Given the description of an element on the screen output the (x, y) to click on. 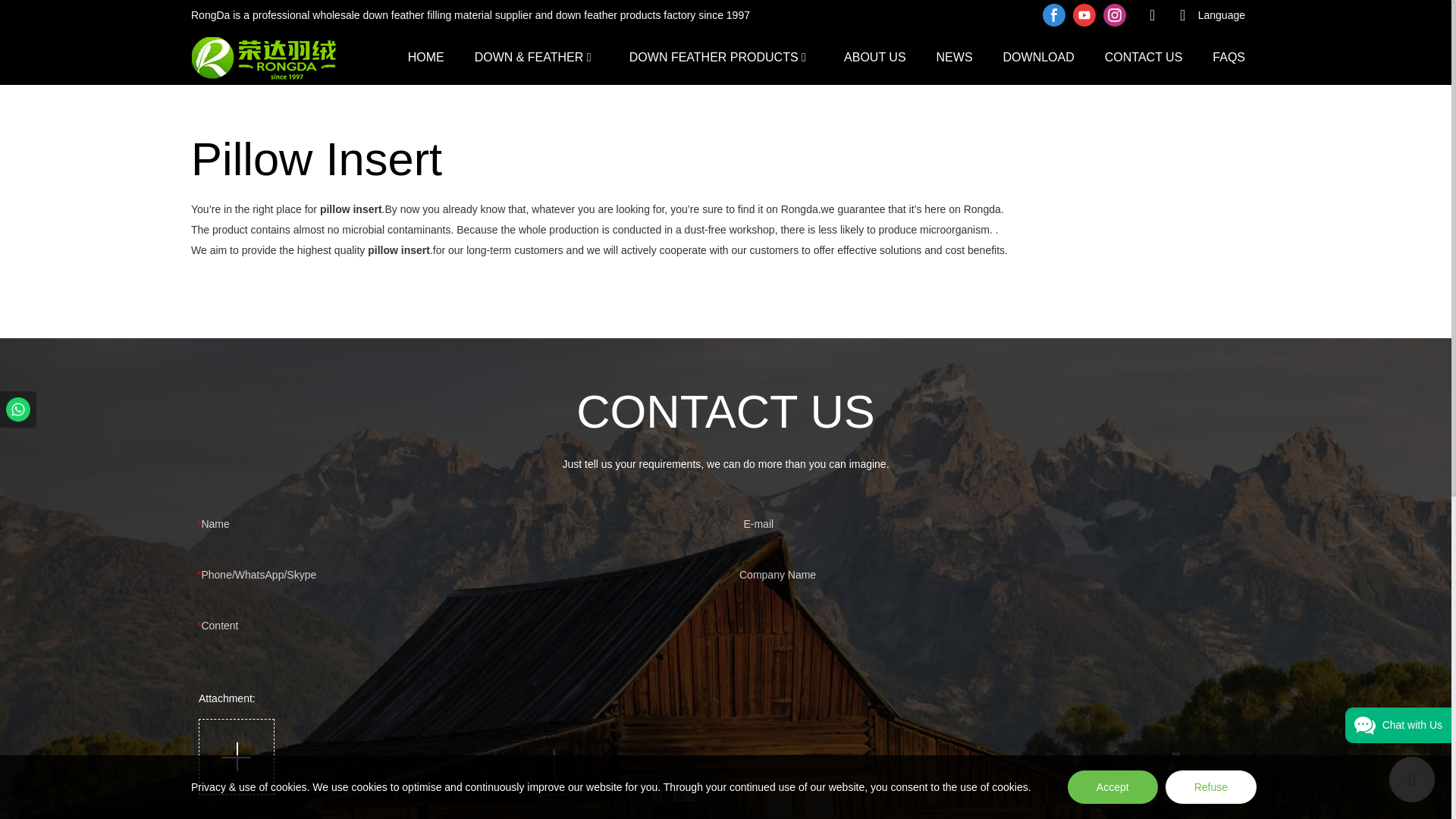
DOWN FEATHER PRODUCTS (712, 56)
DOWNLOAD (1038, 56)
youtube (1083, 15)
NEWS (954, 56)
HOME (425, 56)
instagram (1114, 15)
CONTACT US (1143, 56)
ABOUT US (874, 56)
facebook (1053, 15)
FAQS (1228, 56)
